Given the description of an element on the screen output the (x, y) to click on. 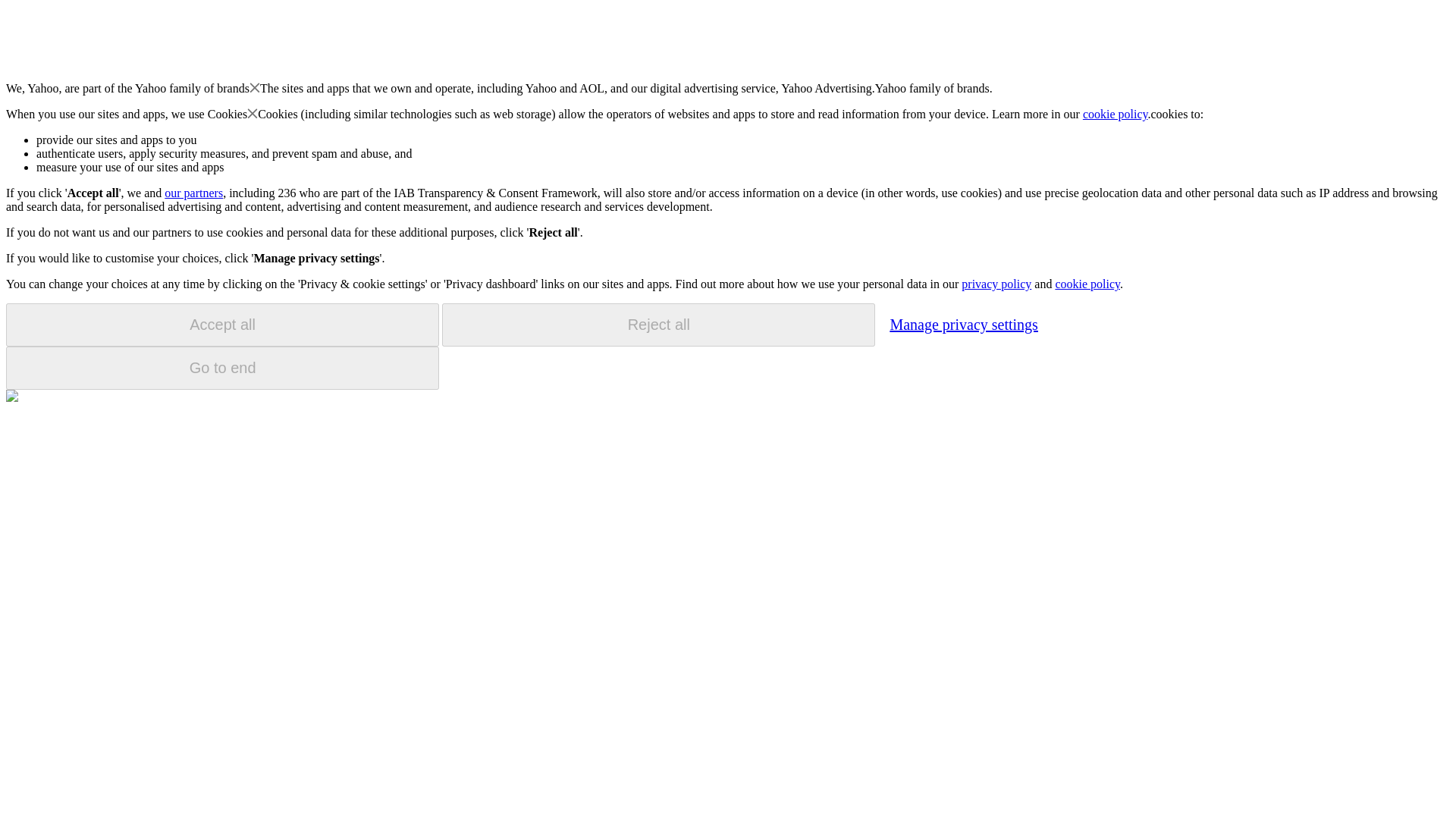
our partners (193, 192)
Reject all (658, 324)
cookie policy (1115, 113)
cookie policy (1086, 283)
Go to end (222, 367)
Manage privacy settings (963, 323)
Accept all (222, 324)
privacy policy (995, 283)
